Given the description of an element on the screen output the (x, y) to click on. 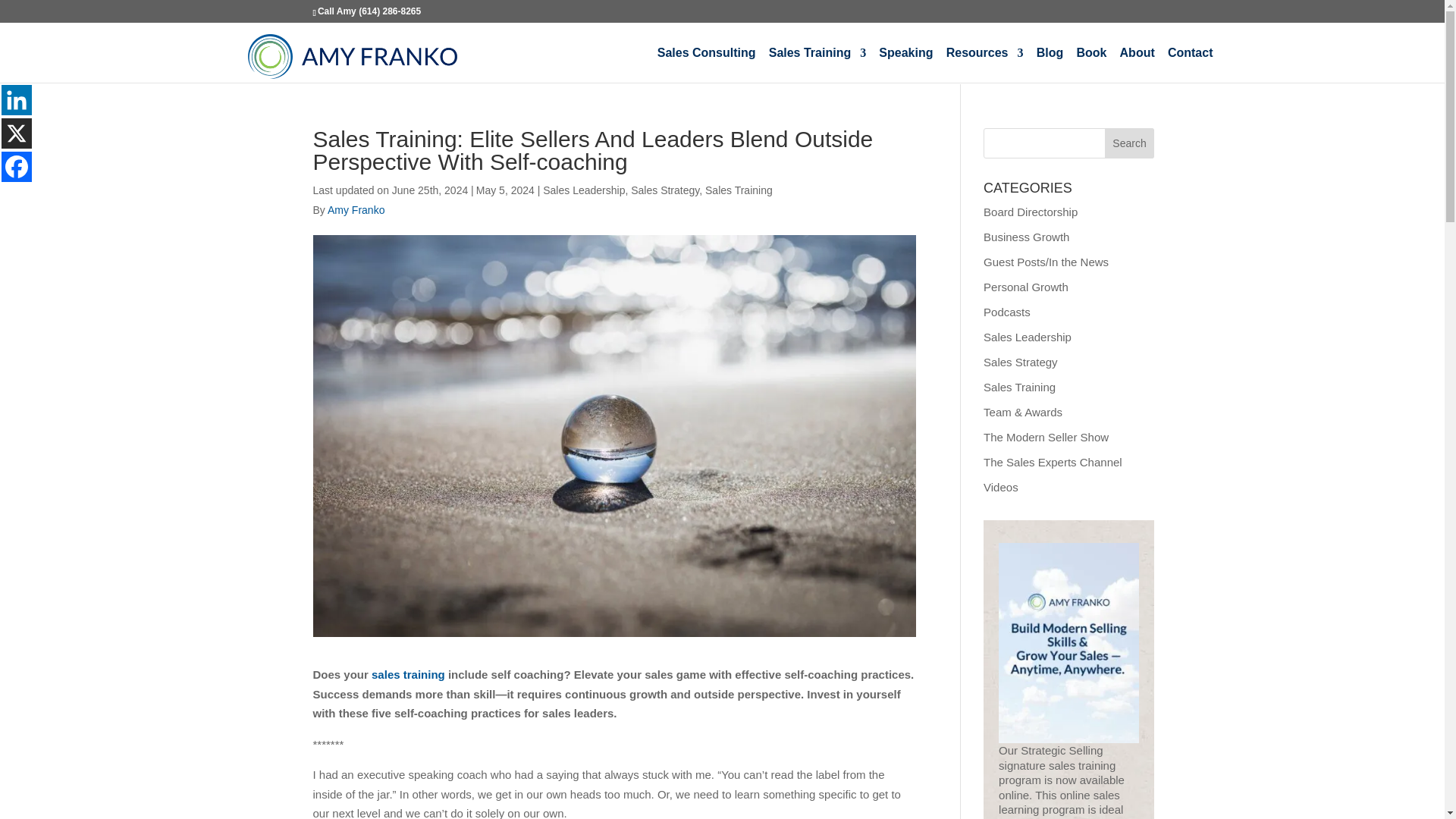
Sales Leadership (583, 190)
Resources (984, 64)
Sales Consulting (706, 64)
sales training (408, 674)
Linkedin (16, 100)
Sales Training (817, 64)
Board Directorship (1030, 211)
Sales Strategy (664, 190)
Sales Training (738, 190)
Search (1129, 142)
Search (1129, 142)
Speaking (906, 64)
Contact (1189, 64)
X (16, 132)
Facebook (16, 166)
